Given the description of an element on the screen output the (x, y) to click on. 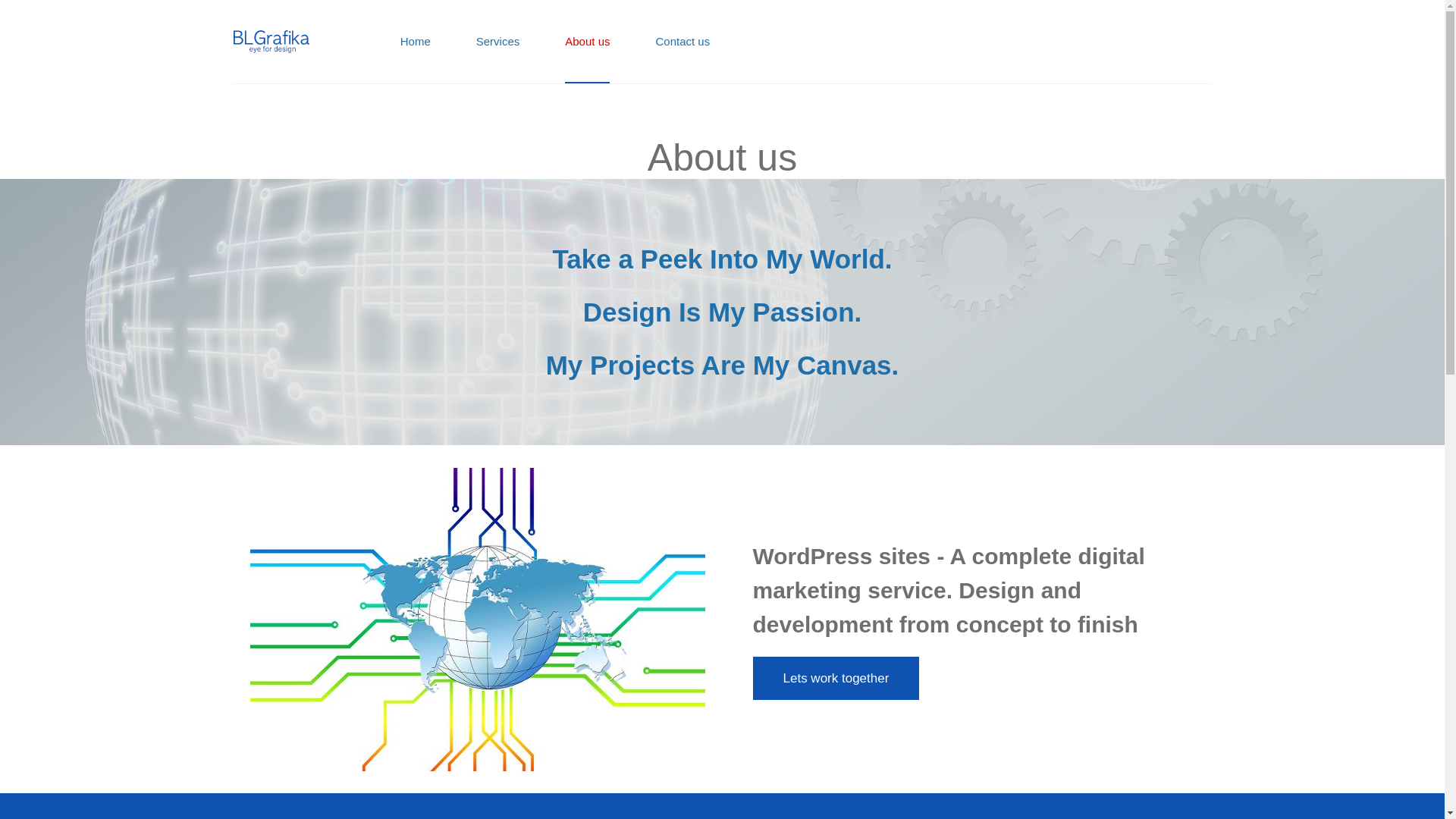
Home (414, 41)
About us (586, 41)
Services (497, 41)
Contact us (681, 41)
Lets work together (835, 678)
About us (721, 157)
Skip to content (15, 7)
